Given the description of an element on the screen output the (x, y) to click on. 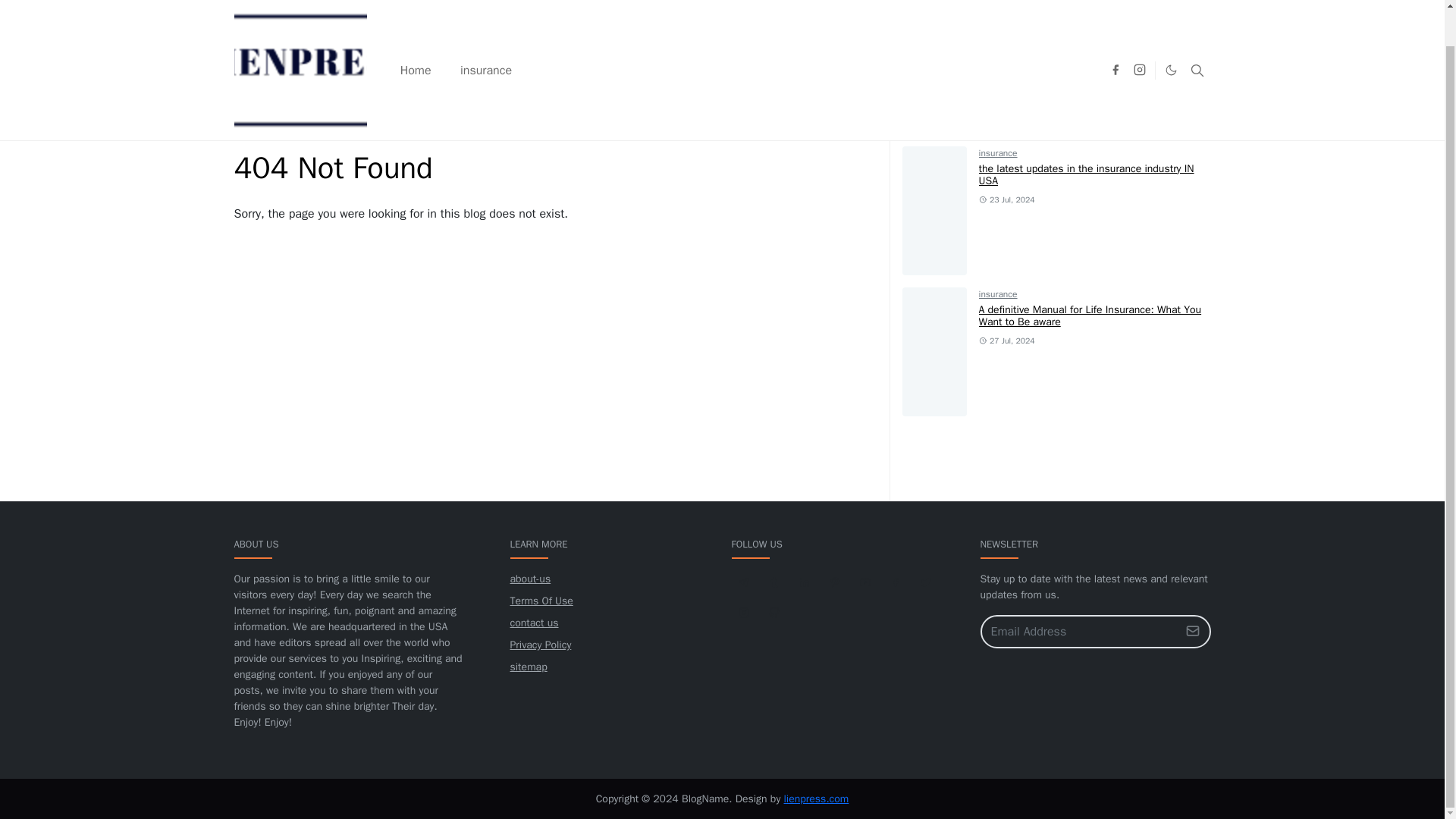
Terms Of Use (540, 600)
lienpress.com (815, 798)
contact us (533, 622)
insurance (997, 294)
the latest updates in the insurance industry IN USA (1085, 175)
insurance (997, 152)
about-us (529, 578)
Home (415, 31)
Home (246, 129)
sitemap (528, 666)
